Given the description of an element on the screen output the (x, y) to click on. 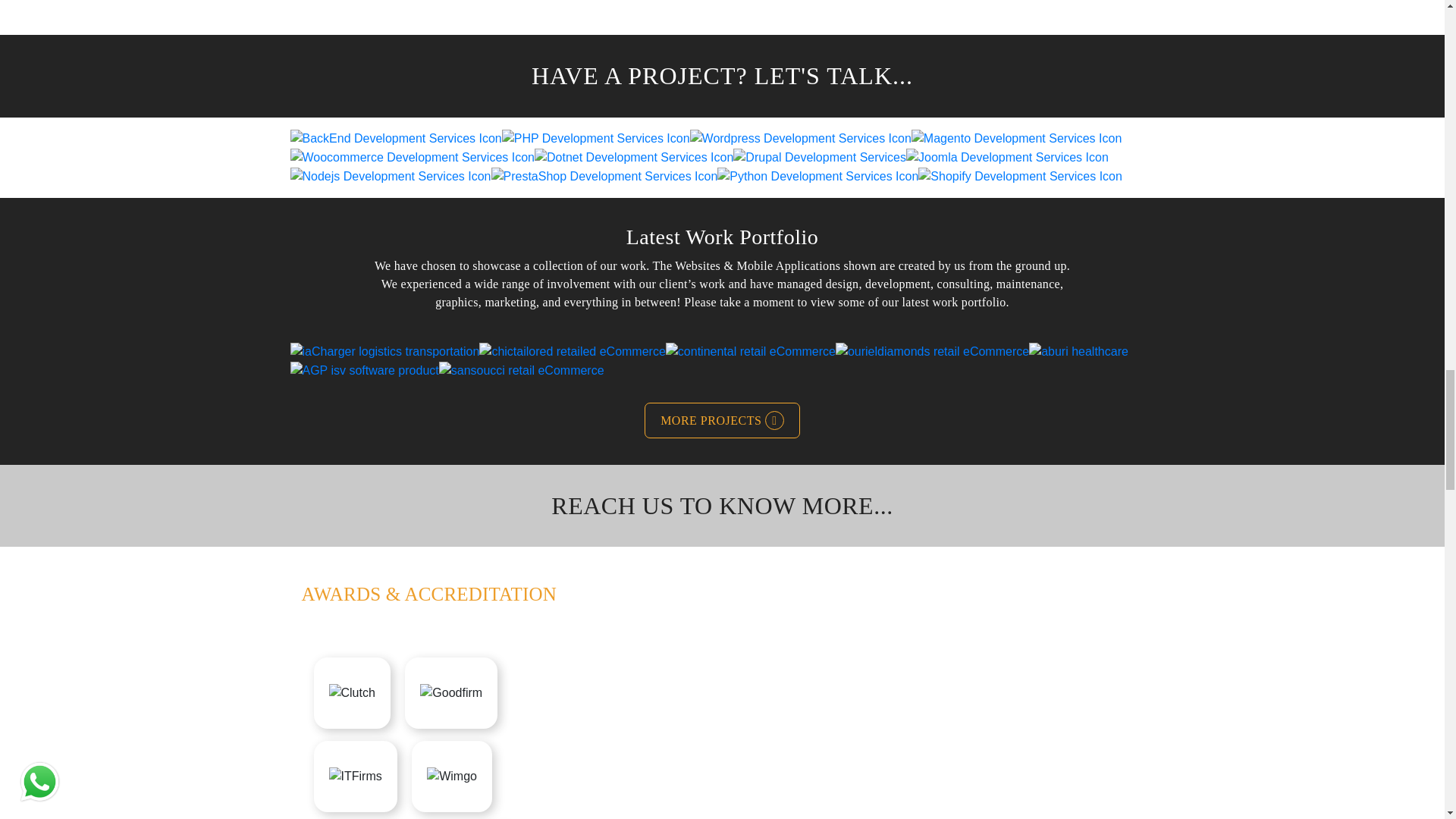
PHP Development Services Icon (596, 138)
BackEnd Development Services Icon (394, 138)
Magento Development Services Icon (1016, 138)
Wordpress Development Services Icon (800, 138)
